Given the description of an element on the screen output the (x, y) to click on. 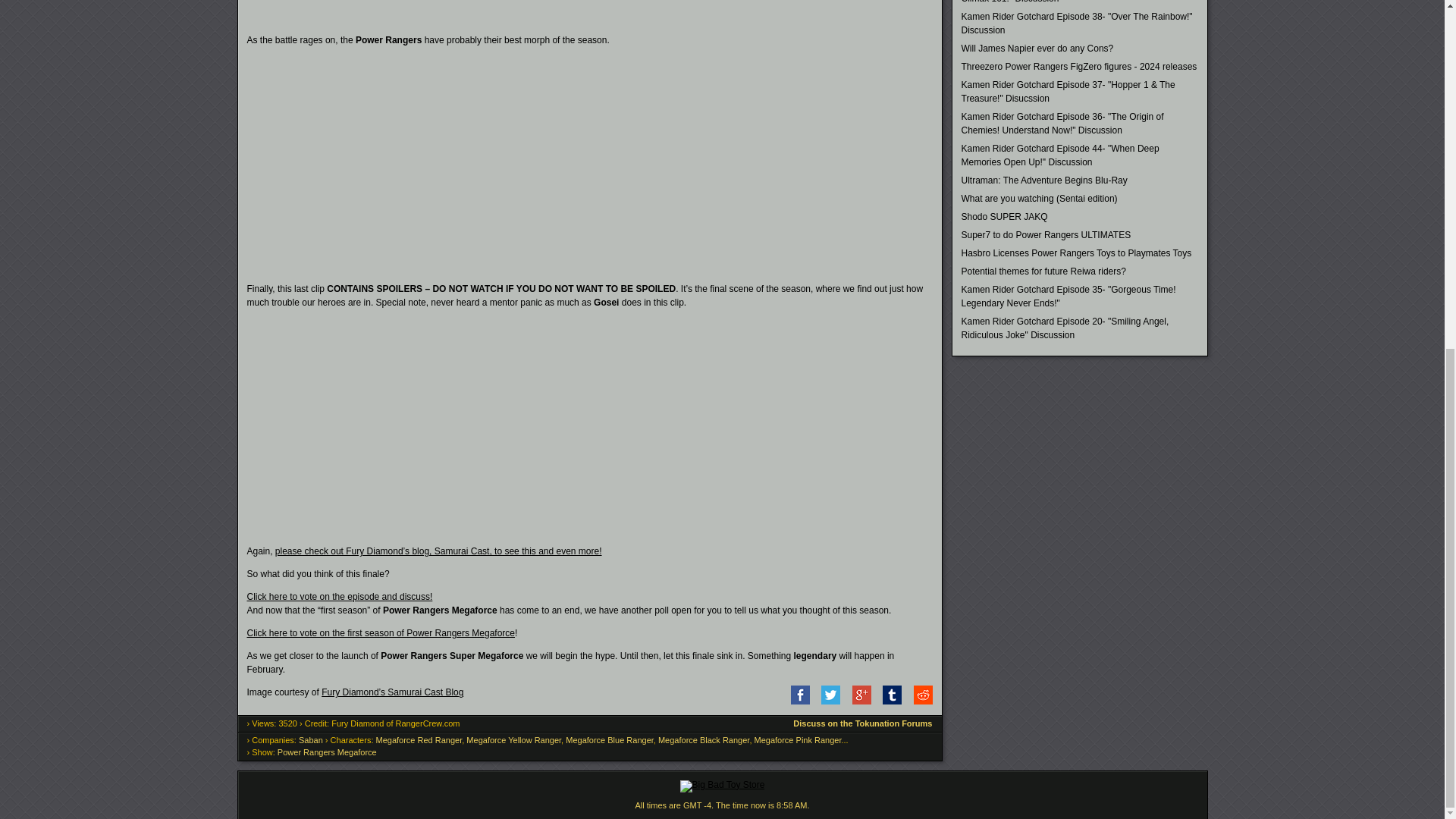
Post to tumblr (887, 701)
reddit this! (917, 701)
Share with followers on Twitter (826, 701)
Share with friends on Facebook (795, 701)
